Given the description of an element on the screen output the (x, y) to click on. 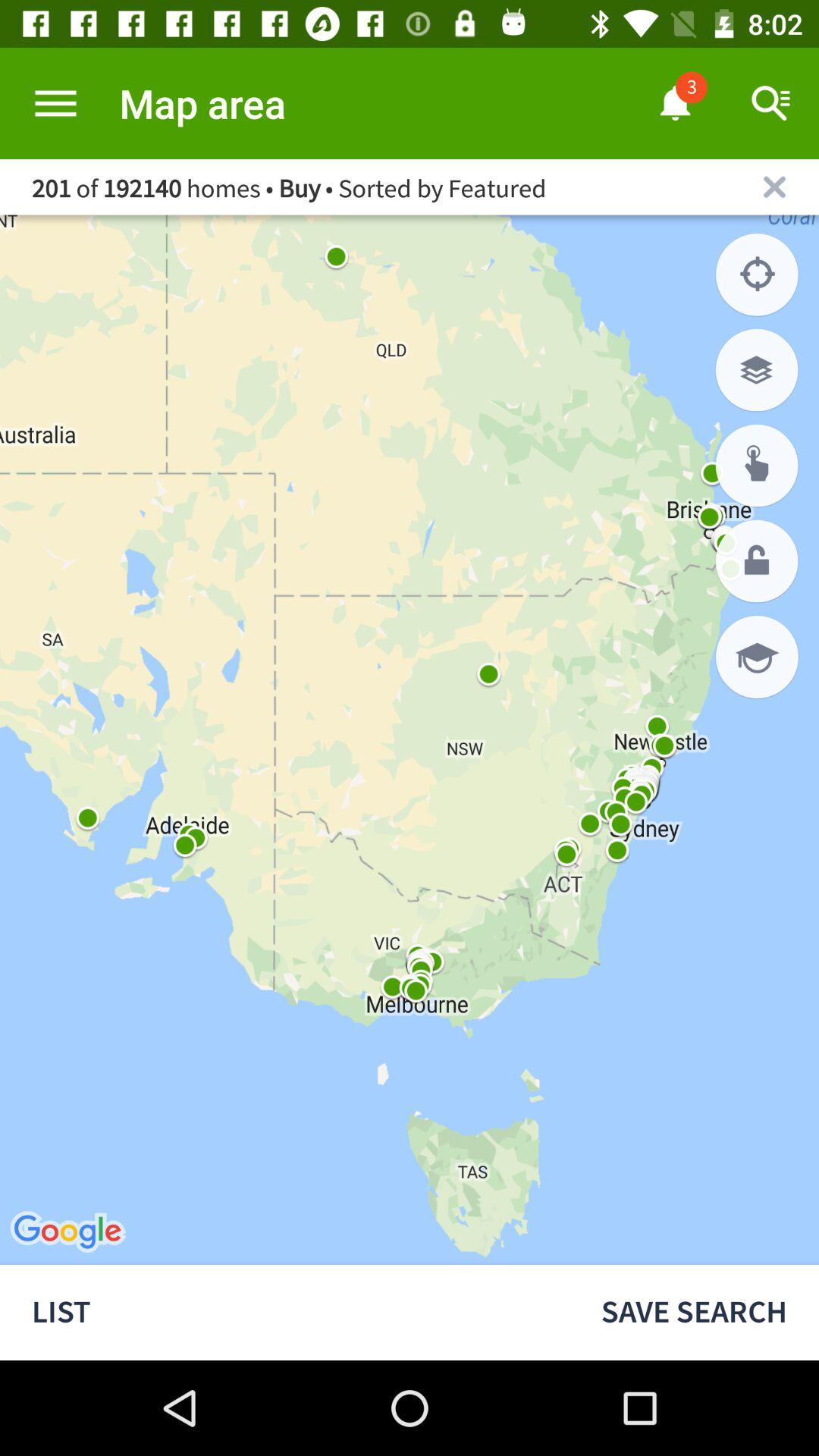
select the item next to 201 of 192140 icon (774, 186)
